Given the description of an element on the screen output the (x, y) to click on. 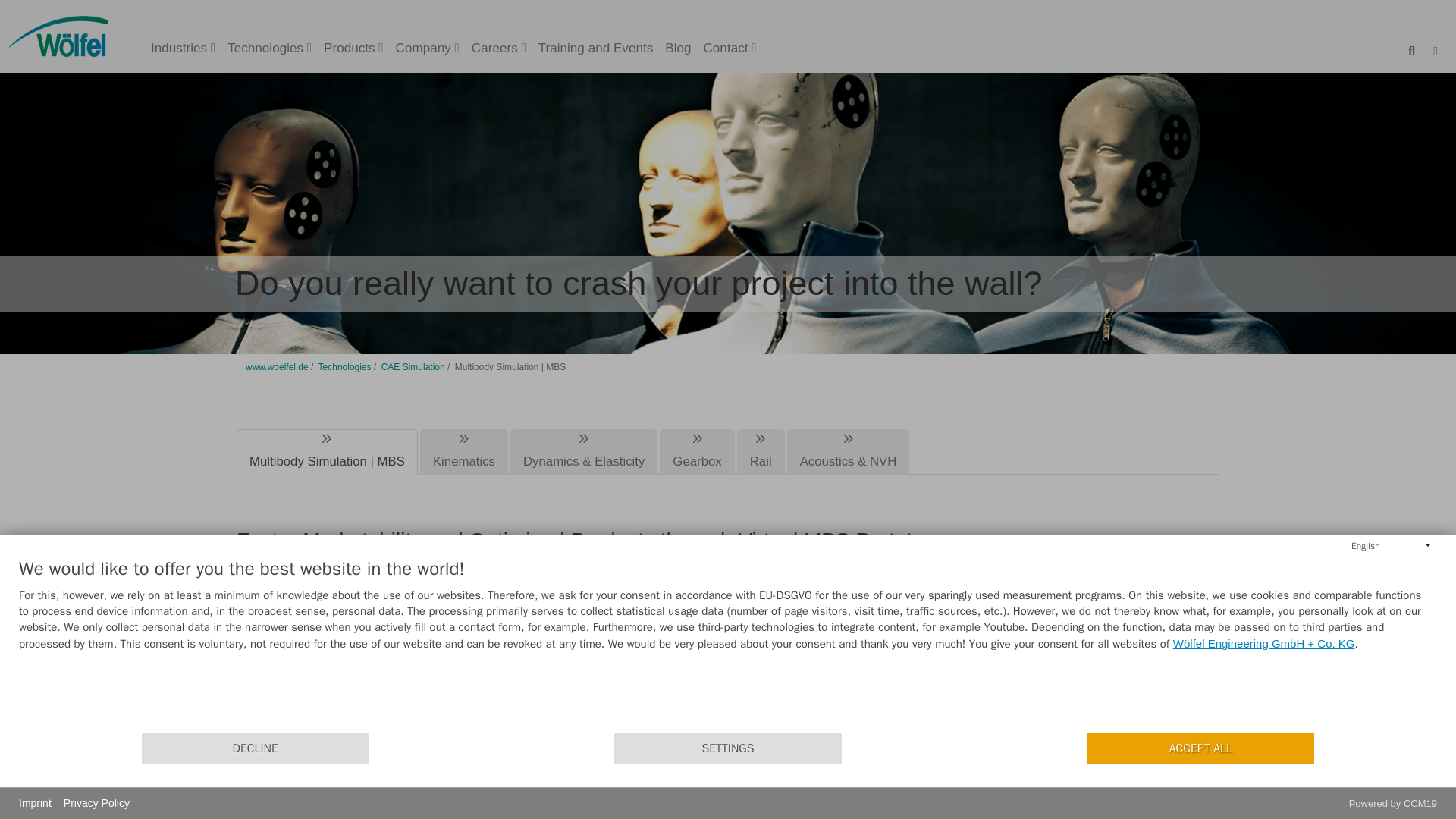
Technologies (269, 48)
Careers (498, 48)
Products (353, 48)
Training and Events (595, 48)
Industries (182, 48)
Contact (729, 48)
Company (427, 48)
Blog (678, 48)
